Given the description of an element on the screen output the (x, y) to click on. 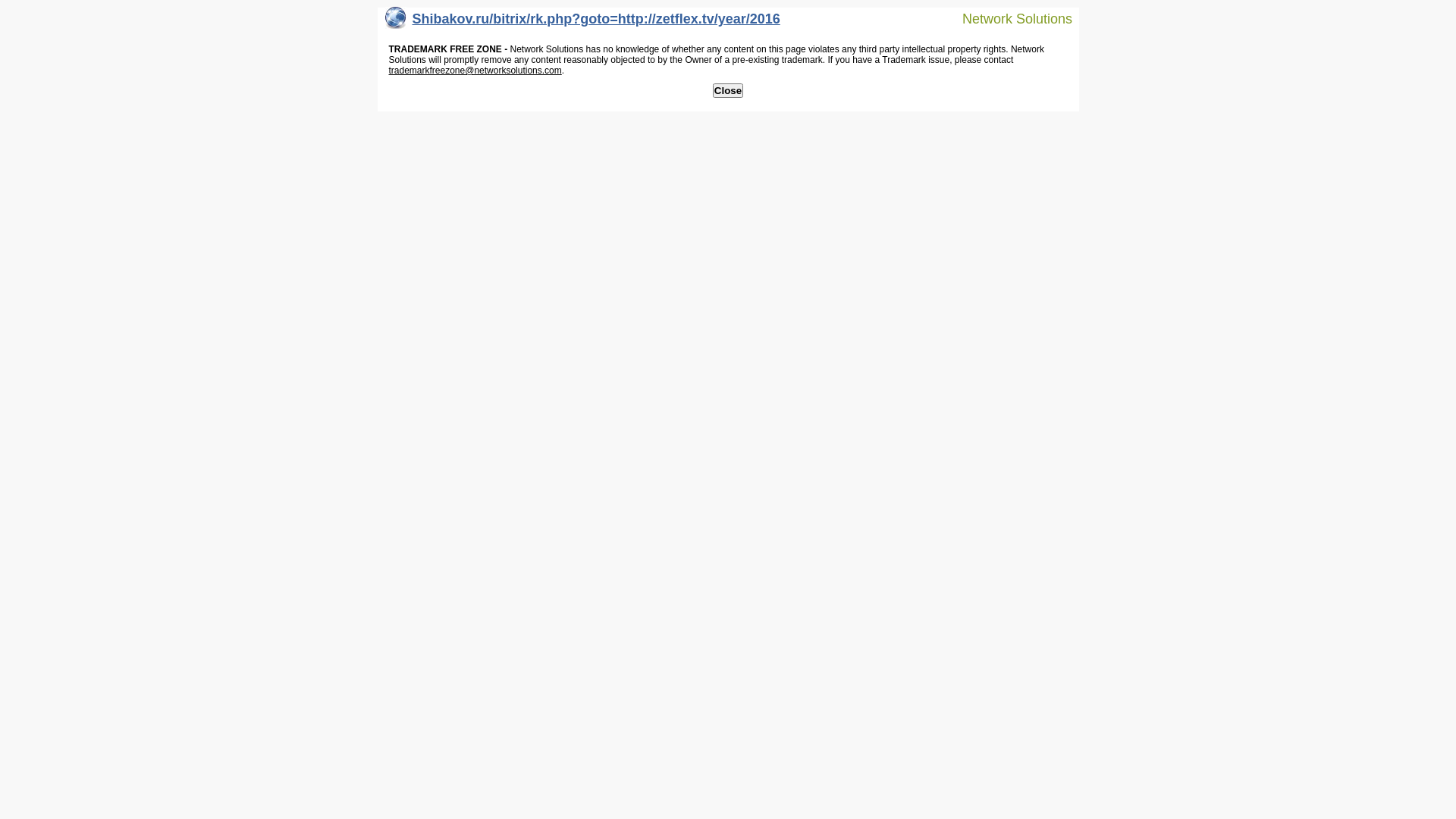
trademarkfreezone@networksolutions.com Element type: text (474, 70)
Network Solutions Element type: text (1007, 17)
Shibakov.ru/bitrix/rk.php?goto=http://zetflex.tv/year/2016 Element type: text (582, 21)
Close Element type: text (727, 90)
